Given the description of an element on the screen output the (x, y) to click on. 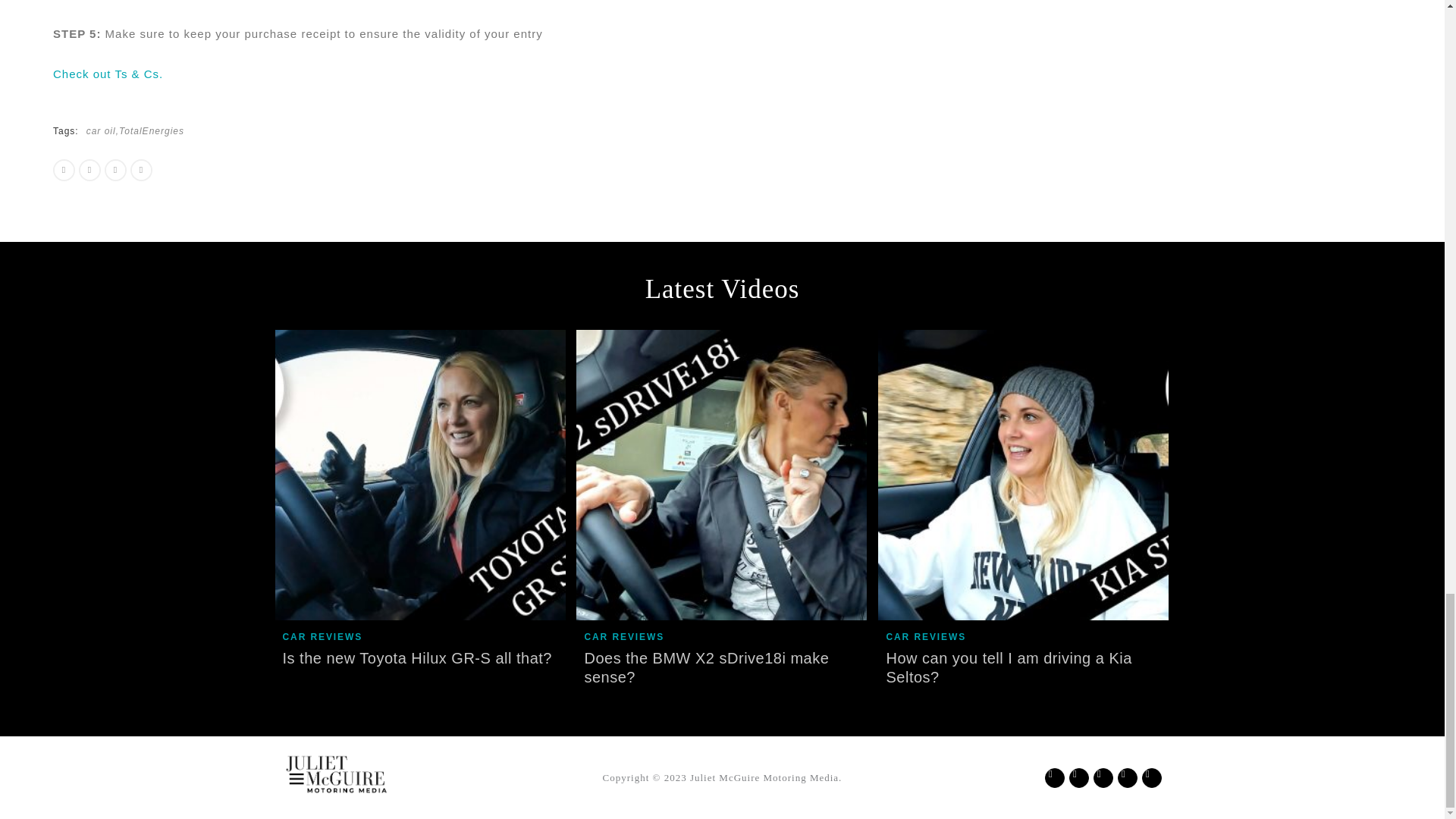
Online Lubricants Catalogue (634, 31)
Quartz Lubricants range (328, 123)
Facebook (324, 134)
Instagram (257, 166)
Twitter (391, 119)
